Given the description of an element on the screen output the (x, y) to click on. 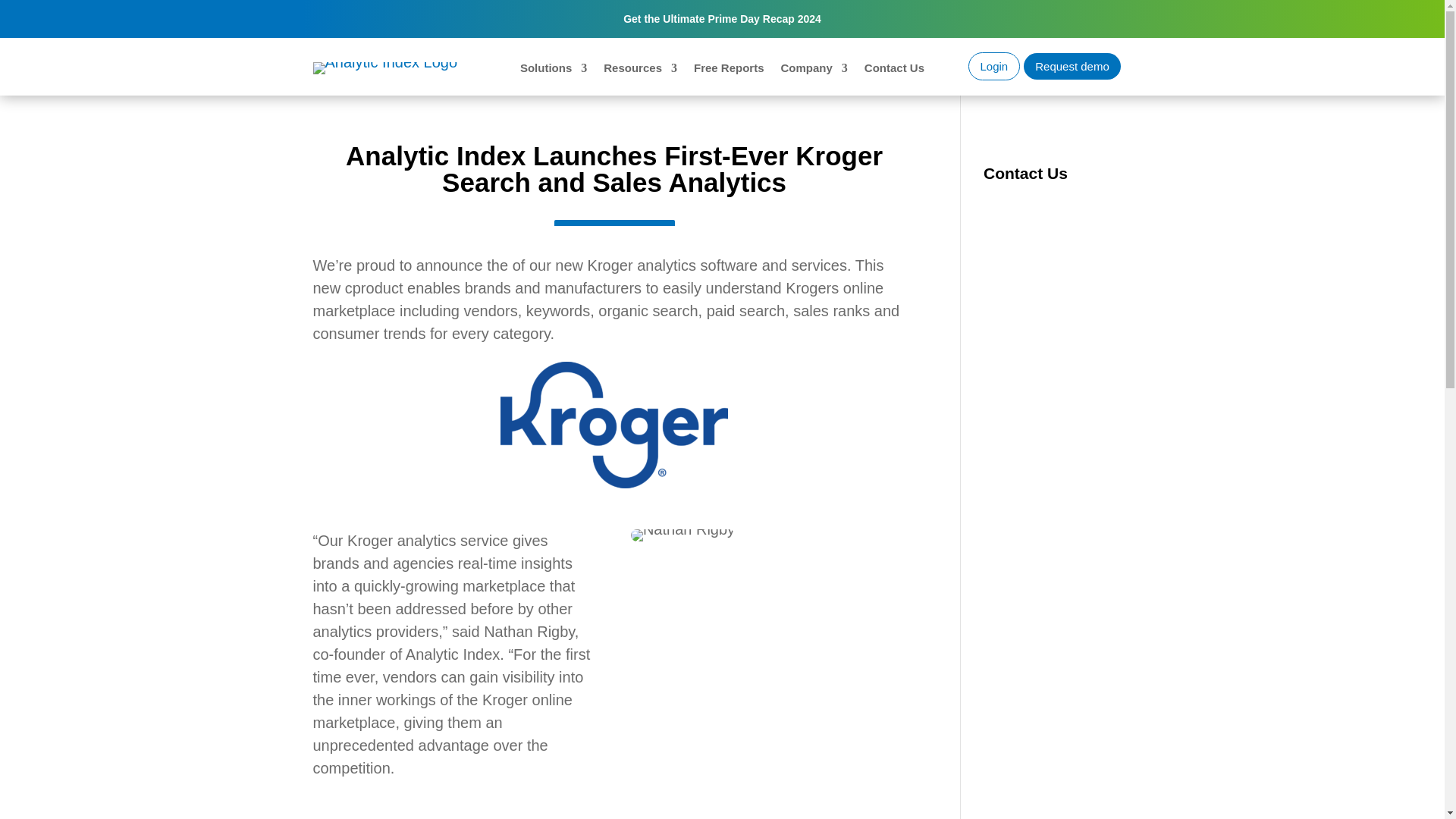
Solutions (552, 71)
Resources (640, 71)
Company (813, 71)
Get the Ultimate Prime Day Recap 2024 (722, 19)
Analytic Index Logo (385, 68)
Free Reports (729, 71)
Kroger Analytics (614, 424)
Request demo (1072, 66)
Nathan Rigby (682, 535)
Contact Us (894, 71)
Login (994, 66)
